Given the description of an element on the screen output the (x, y) to click on. 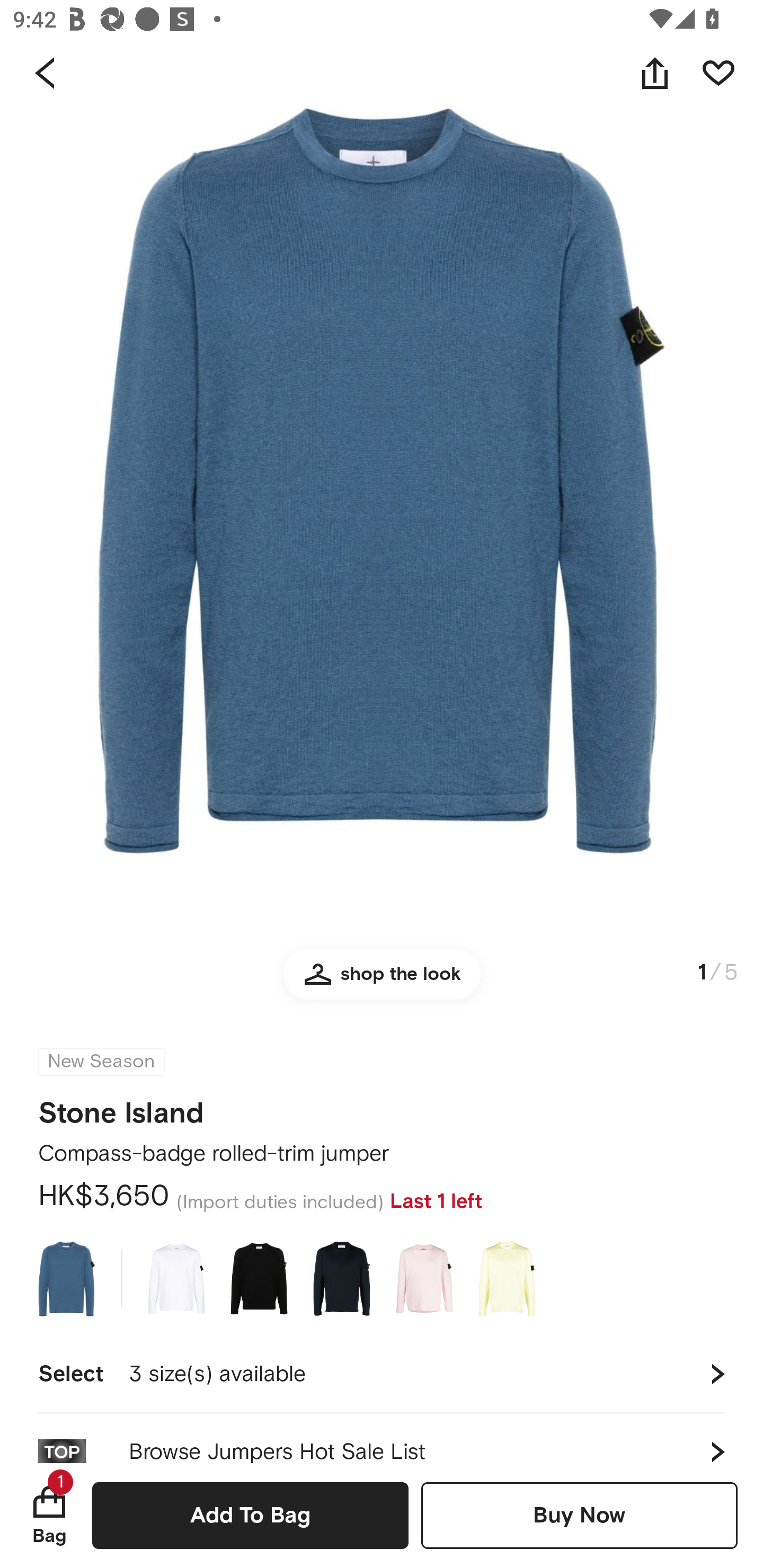
shop the look (381, 982)
Stone Island (120, 1107)
Select 3 size(s) available (381, 1373)
Browse Jumpers Hot Sale List (381, 1438)
Bag 1 (49, 1515)
Add To Bag (250, 1515)
Buy Now (579, 1515)
